Given the description of an element on the screen output the (x, y) to click on. 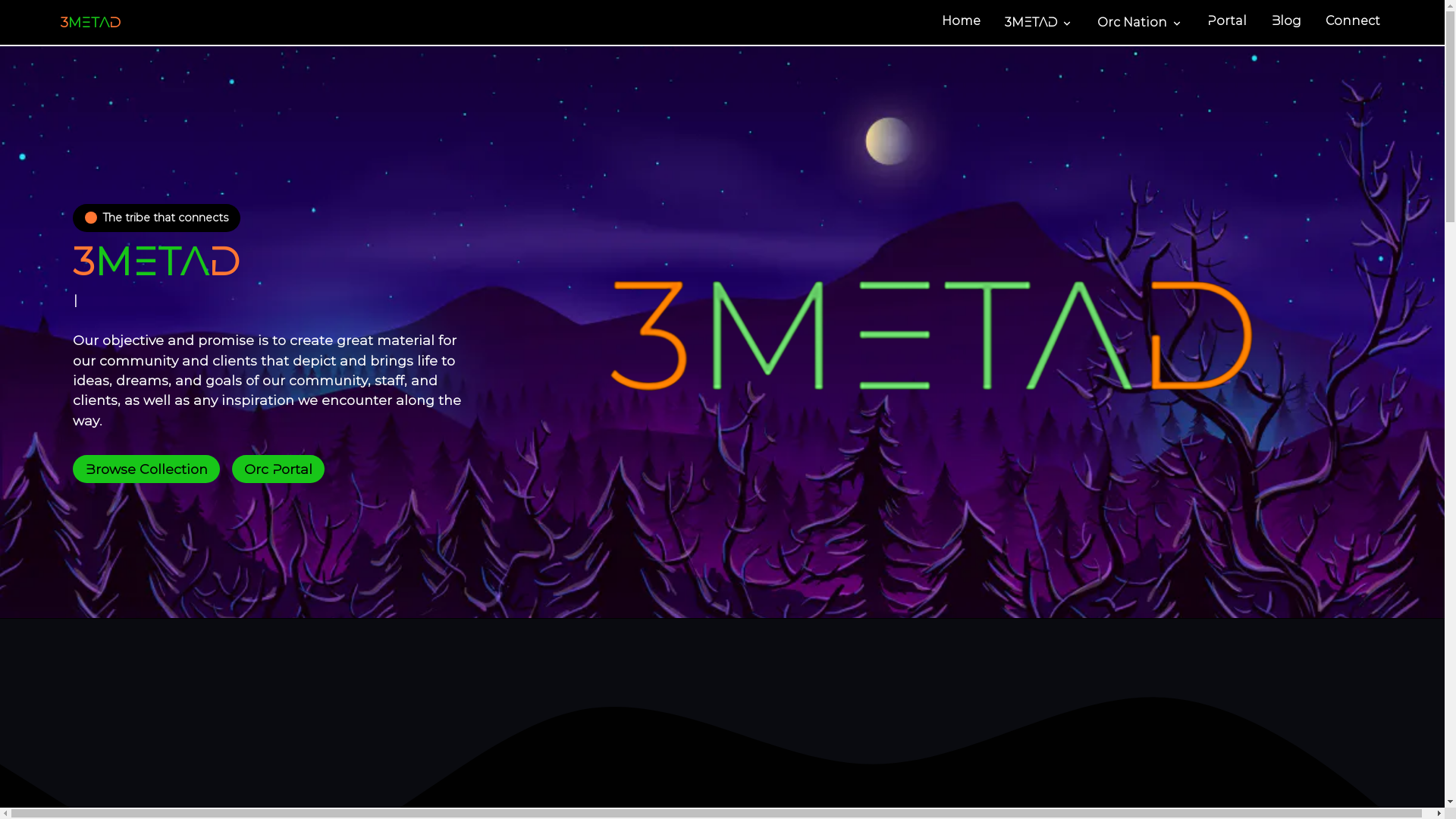
Orc Portal Element type: text (278, 469)
Browse Collection Element type: text (145, 468)
Orc Portal Element type: text (278, 468)
Orc Nation Element type: text (1140, 22)
Portal Element type: text (1226, 22)
Connect Element type: text (1352, 22)
3METAD Element type: text (1038, 22)
Home Element type: text (960, 22)
Browse Collection Element type: text (145, 469)
Blog Element type: text (1285, 22)
